Given the description of an element on the screen output the (x, y) to click on. 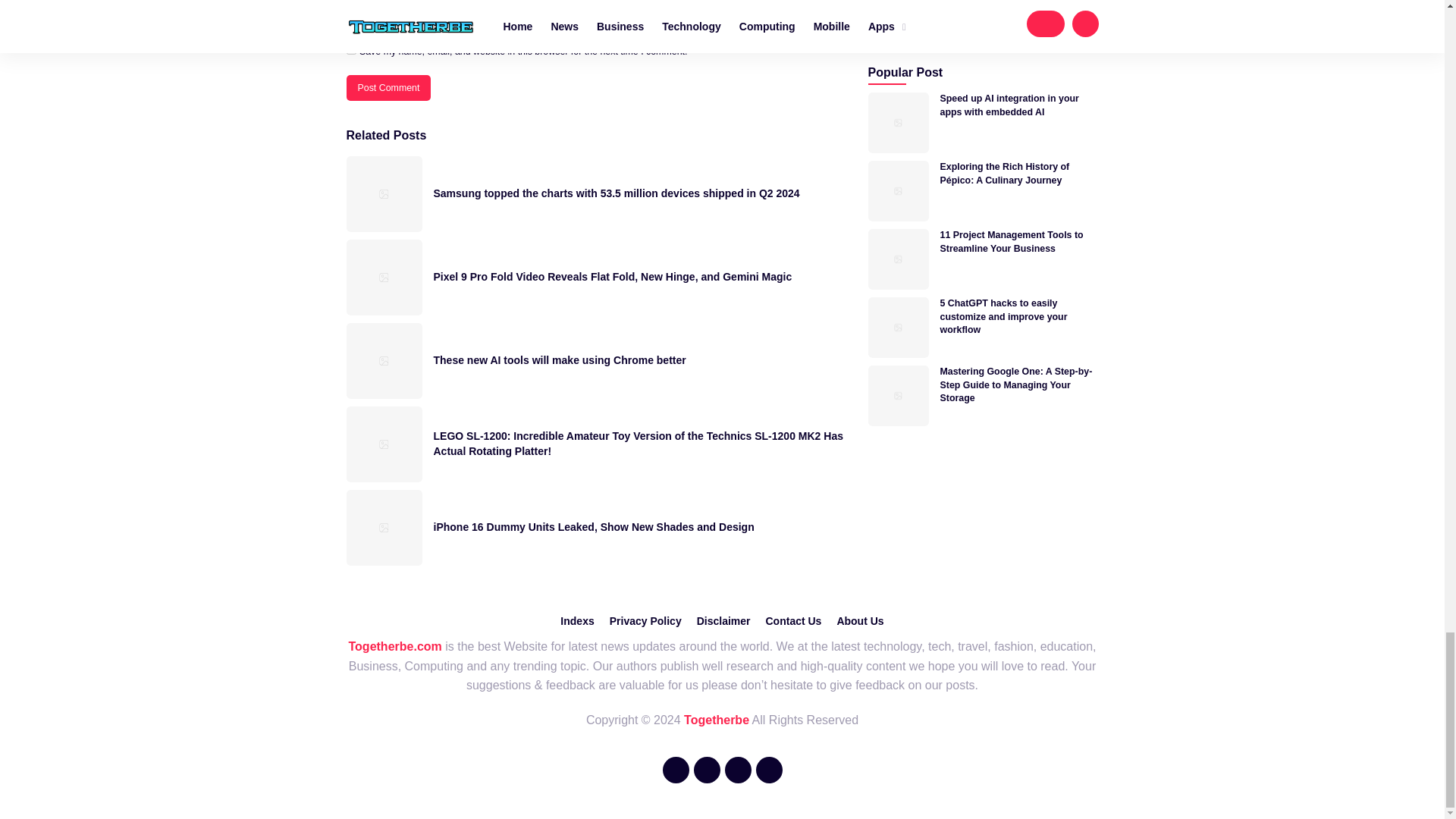
Post Comment (388, 87)
yes (350, 49)
